Given the description of an element on the screen output the (x, y) to click on. 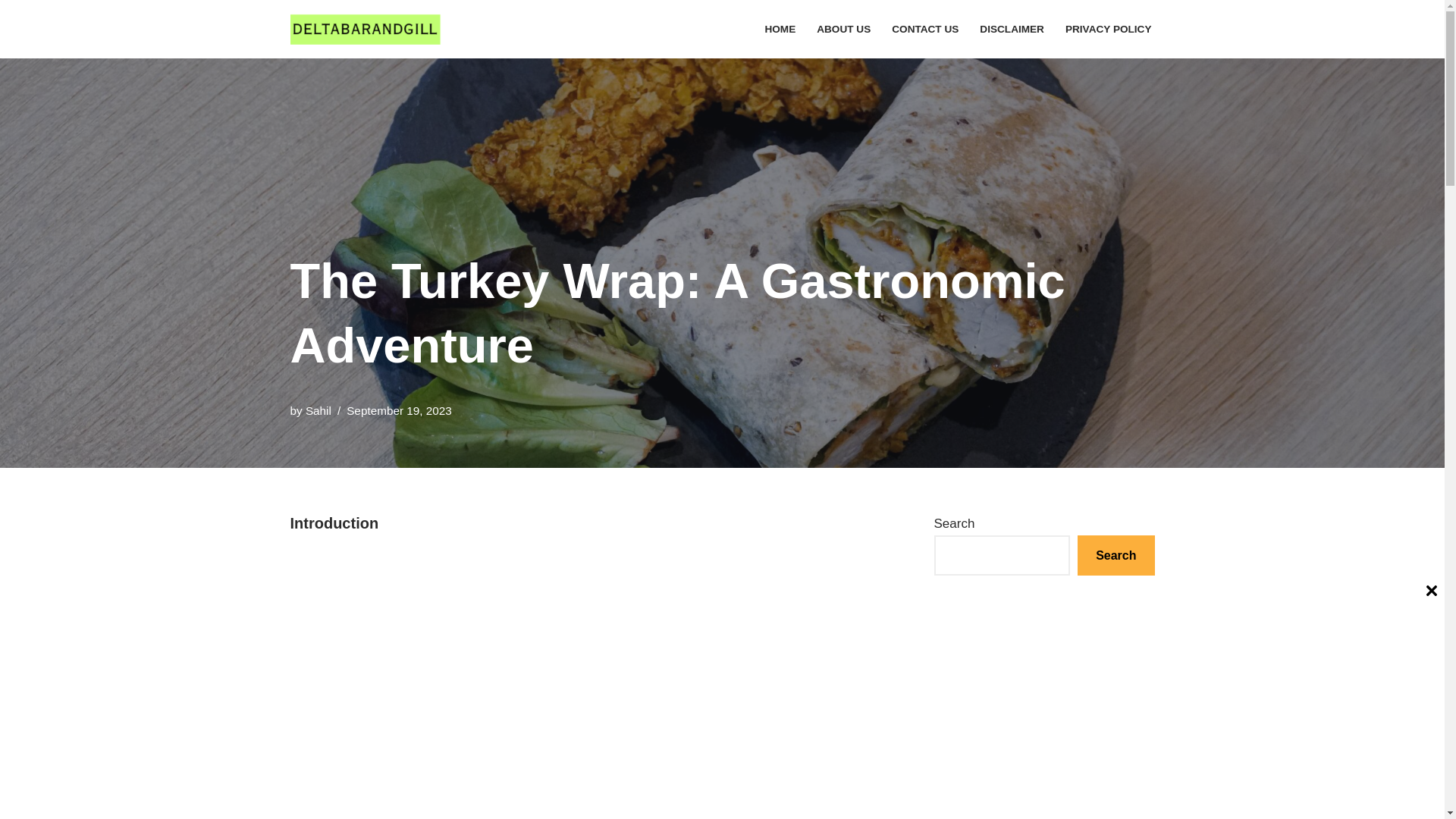
ABOUT US (843, 28)
Skip to content (11, 31)
PRIVACY POLICY (1108, 28)
Search (1115, 555)
Sahil (318, 410)
Posts by Sahil (318, 410)
HOME (779, 28)
DISCLAIMER (1011, 28)
The Turkey Wrap: A Gastronomic Adventure (1029, 791)
CONTACT US (924, 28)
Advertisement (588, 662)
